Given the description of an element on the screen output the (x, y) to click on. 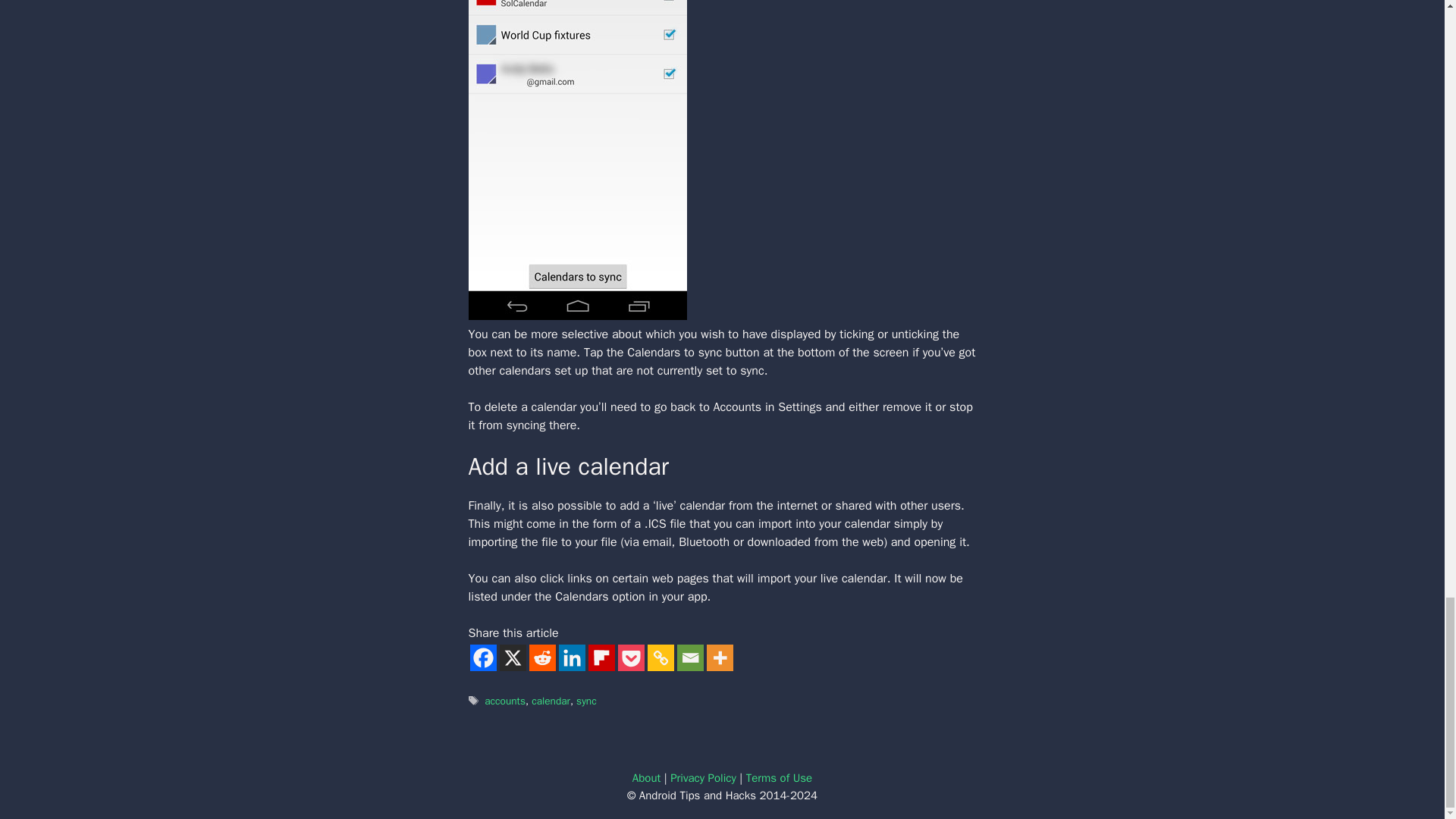
Email (690, 657)
accounts (504, 700)
Terms of Use (778, 777)
calendar (550, 700)
More (719, 657)
Pocket (630, 657)
Flipboard (601, 657)
Facebook (483, 657)
About (646, 777)
Reddit (542, 657)
X (512, 657)
Linkedin (571, 657)
Privacy Policy (702, 777)
sync (586, 700)
Copy Link (660, 657)
